Given the description of an element on the screen output the (x, y) to click on. 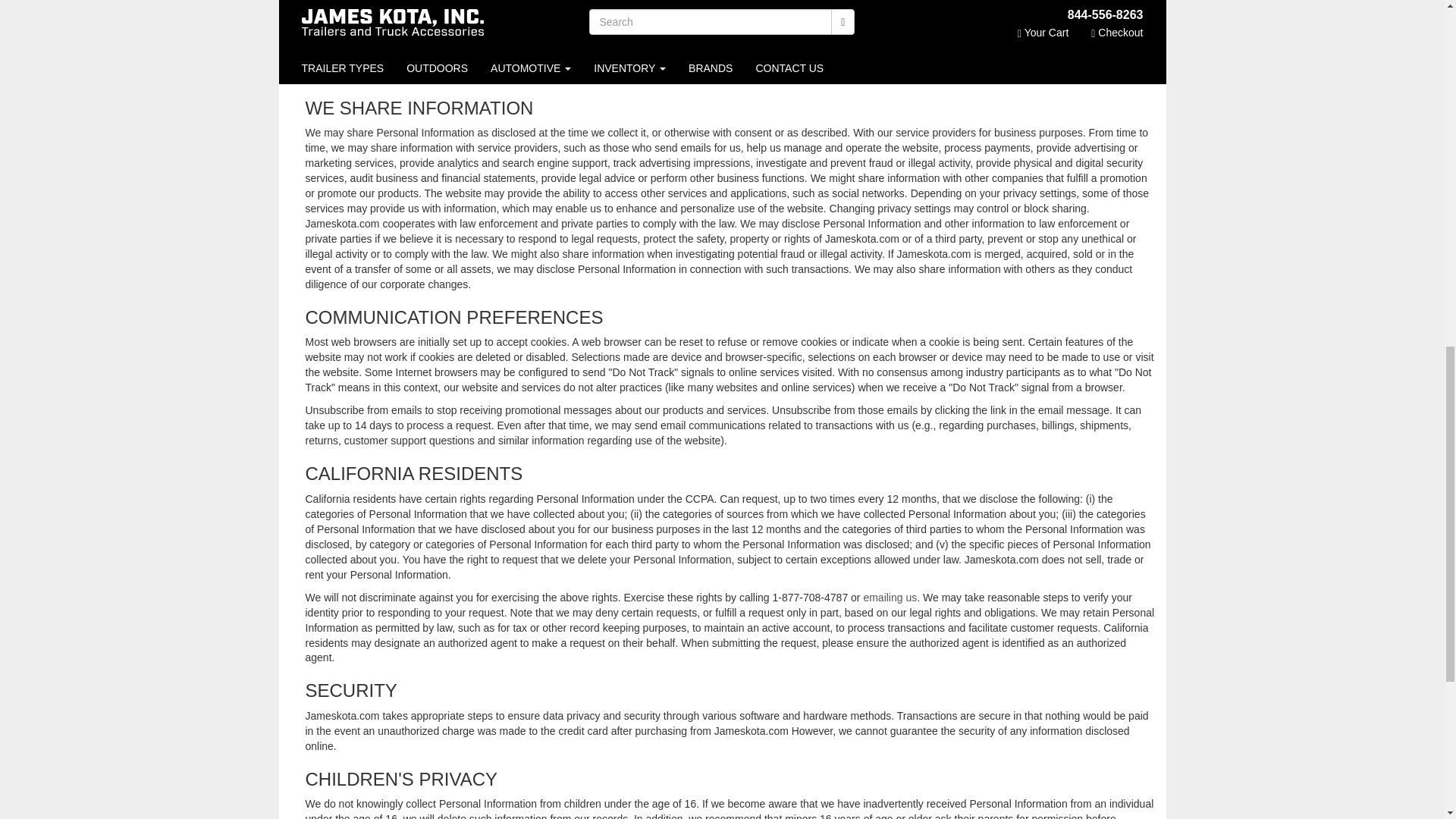
emailing us (890, 597)
